Given the description of an element on the screen output the (x, y) to click on. 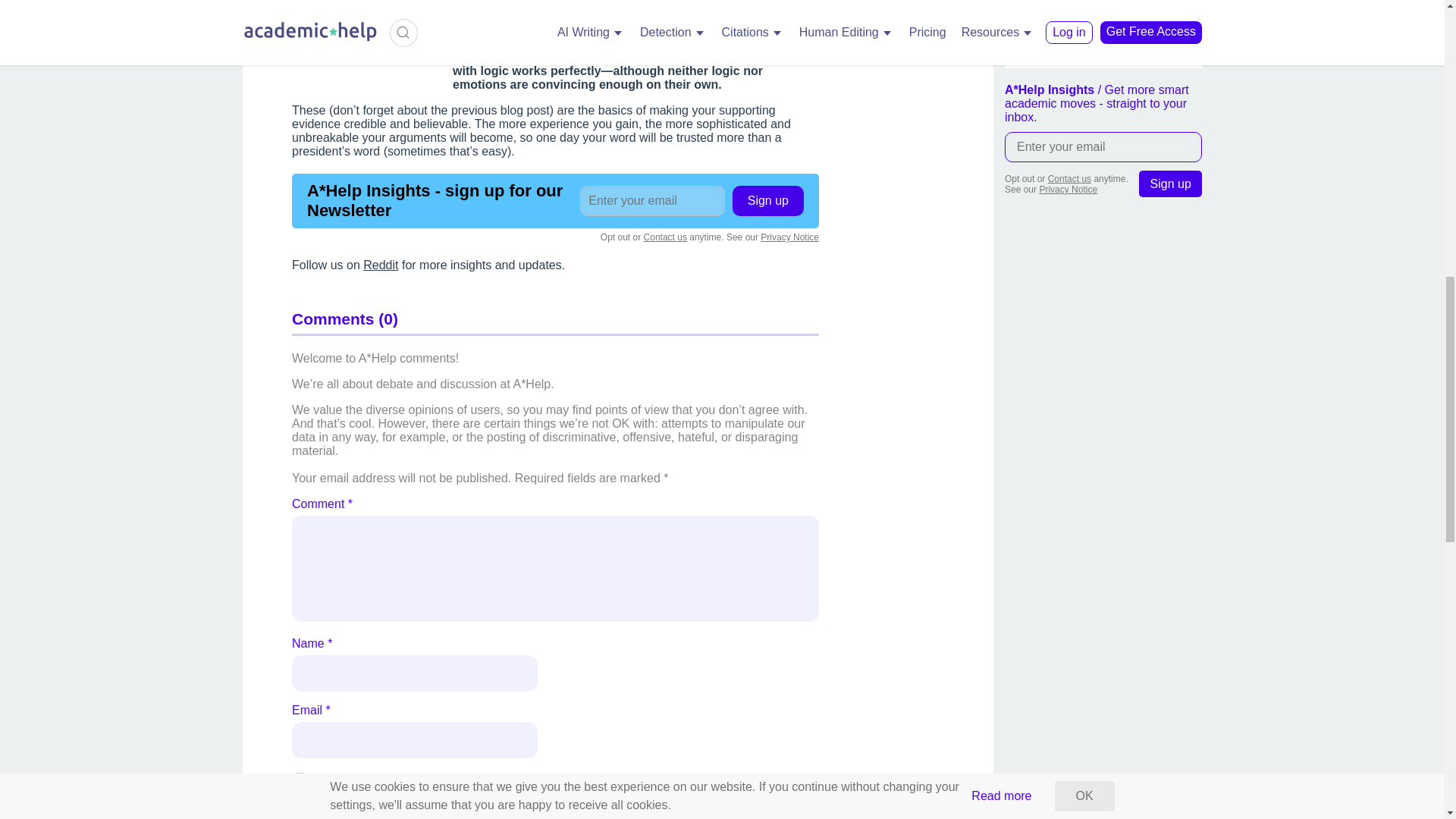
Creative Credible Arguments (366, 7)
Sign up (1170, 183)
yes (299, 777)
